Given the description of an element on the screen output the (x, y) to click on. 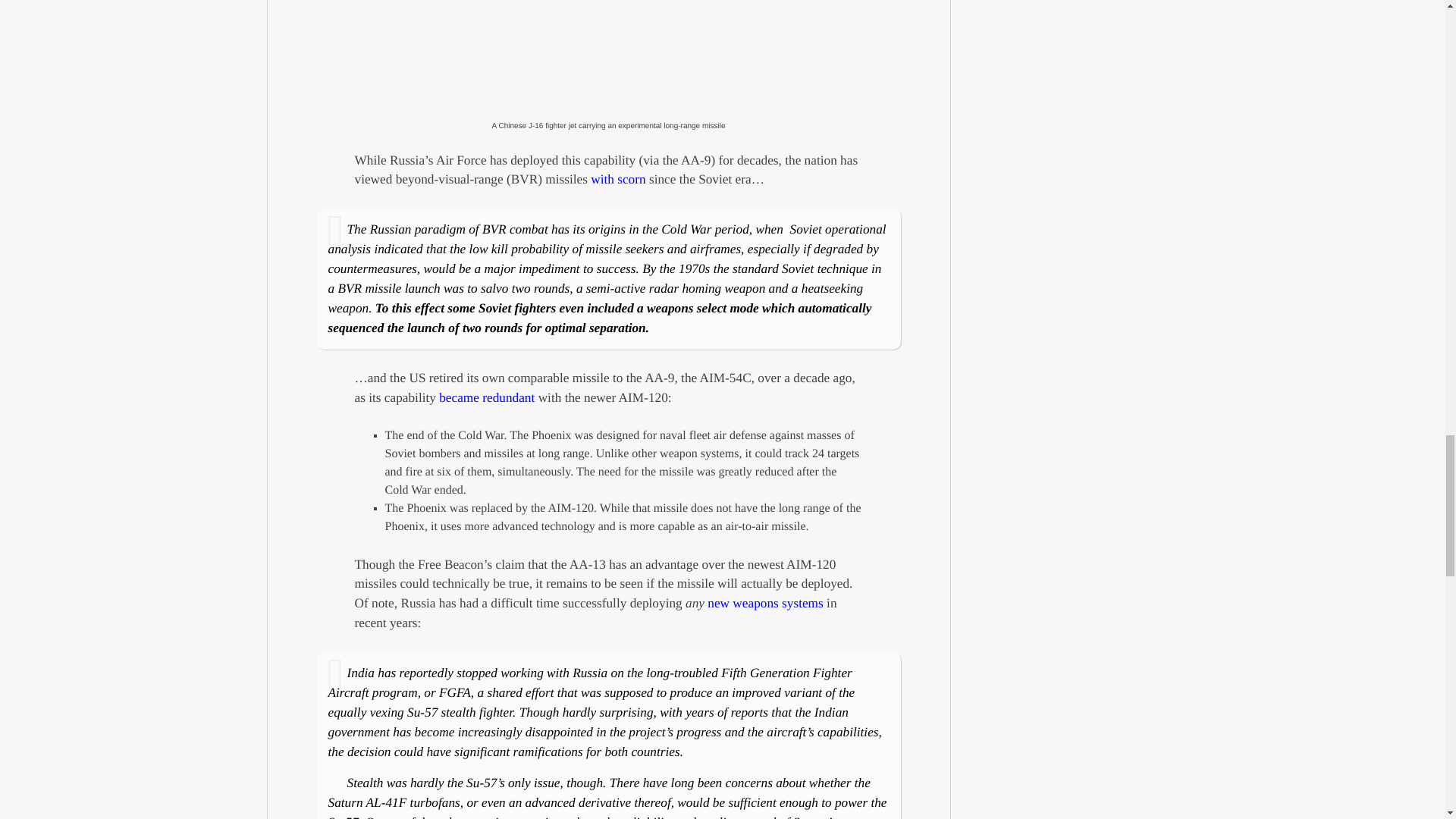
became redundant (486, 397)
with scorn (618, 178)
new weapons systems (765, 603)
